Given the description of an element on the screen output the (x, y) to click on. 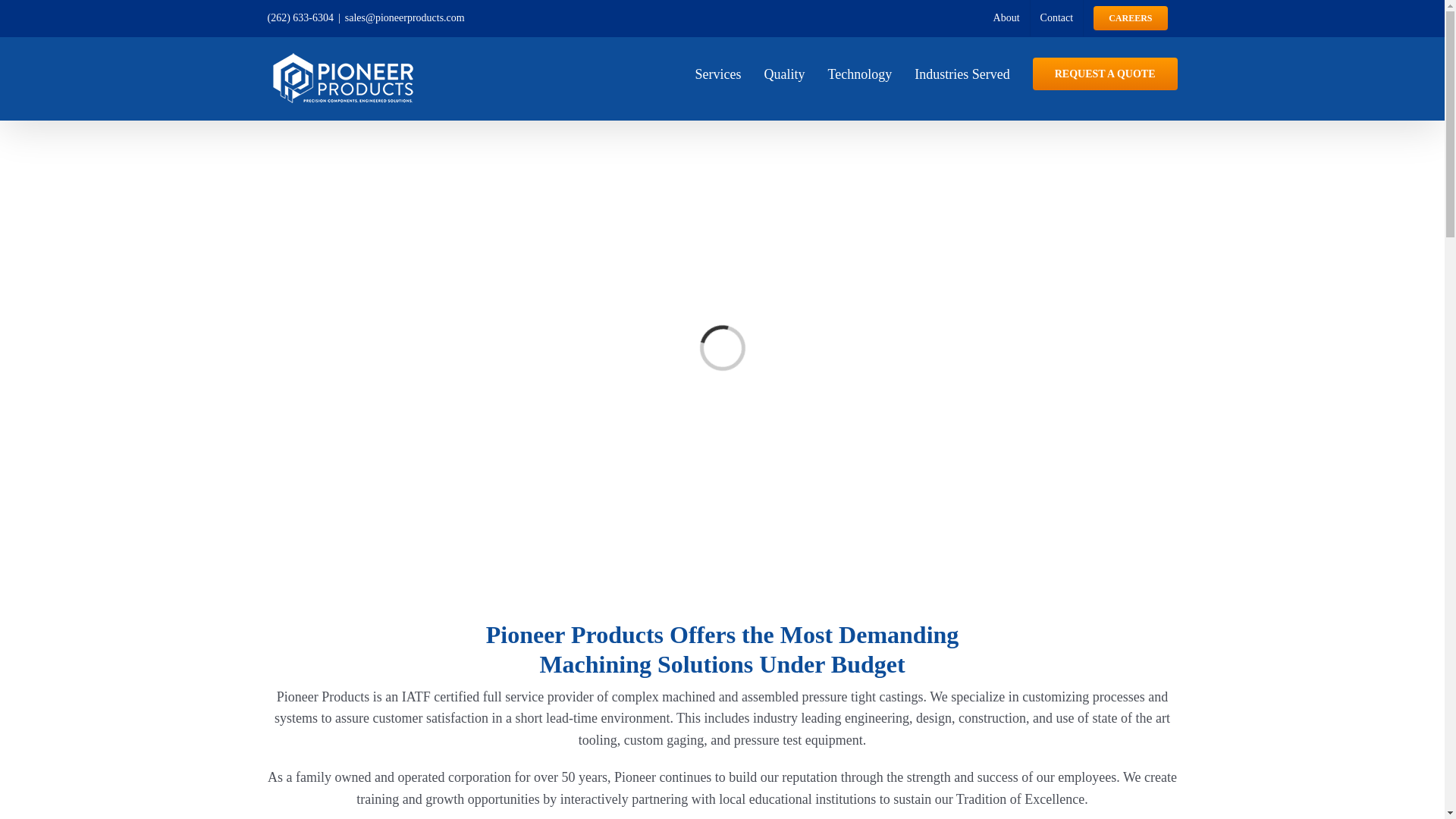
Industries Served (961, 72)
Technology (860, 72)
CAREERS (1129, 18)
Contact (1056, 18)
About (1006, 18)
REQUEST A QUOTE (1104, 72)
